Given the description of an element on the screen output the (x, y) to click on. 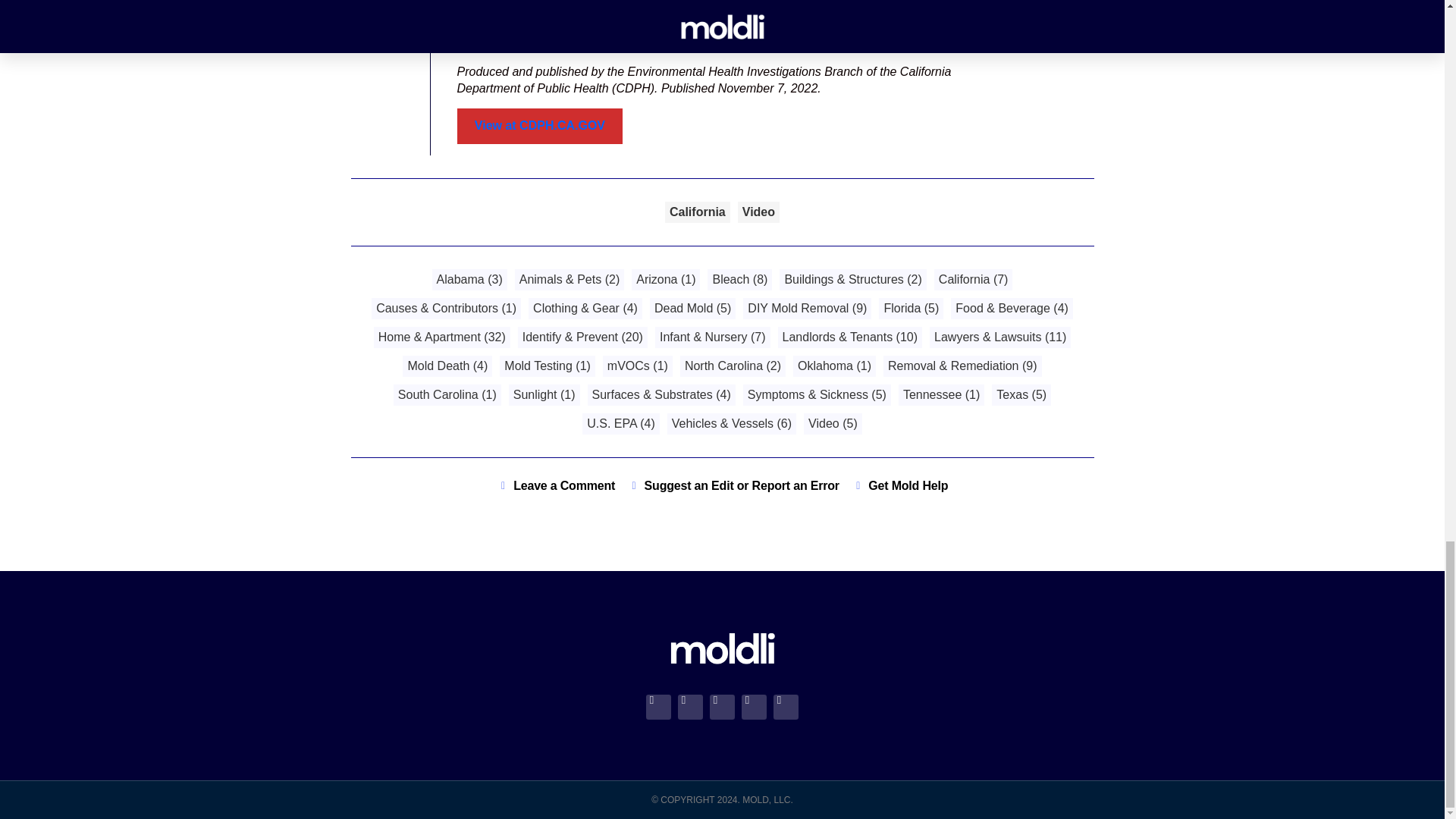
View at CDPH.CA.GOV (540, 126)
California (697, 212)
Arizona (665, 279)
Alabama (469, 279)
California (974, 279)
Bleach (739, 279)
Video (758, 212)
DIY Mold Removal (807, 308)
Dead Mold (691, 308)
Video (758, 212)
California (697, 212)
